Given the description of an element on the screen output the (x, y) to click on. 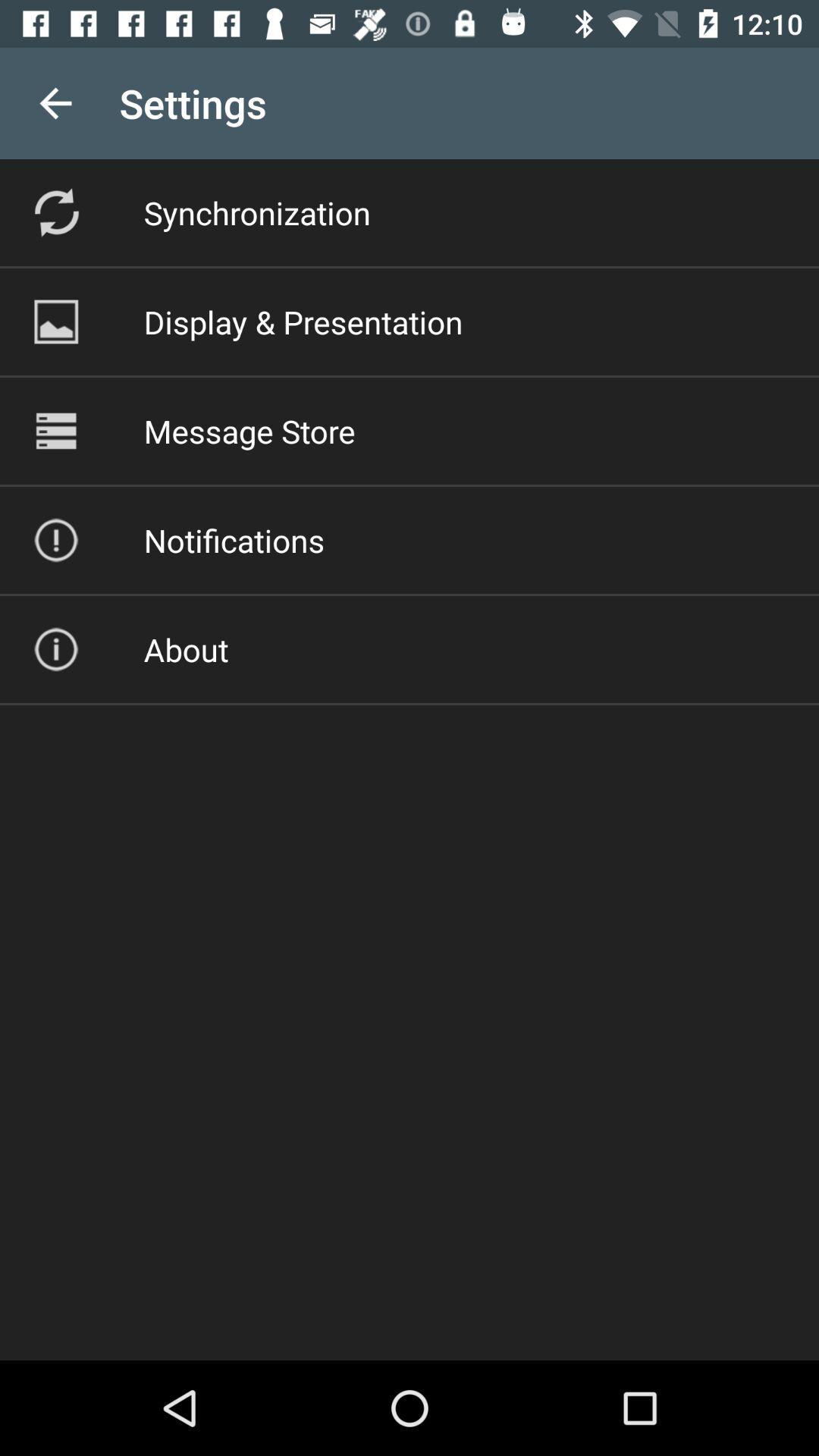
turn on the item above the notifications (249, 430)
